Given the description of an element on the screen output the (x, y) to click on. 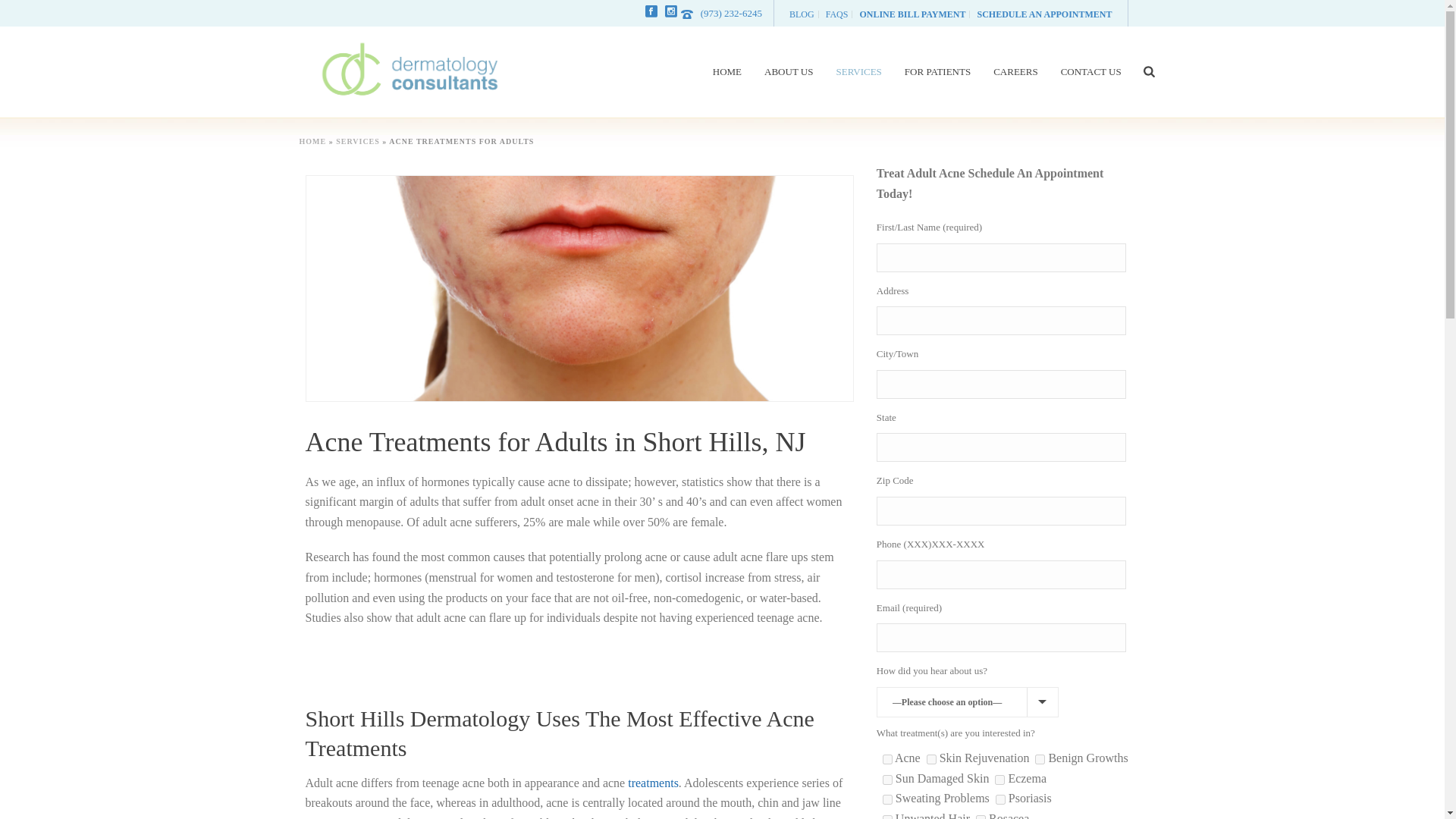
CONTACT US (1090, 71)
A Skin Cancer and Laser Center (409, 71)
Sweating Problems (887, 799)
Unwanted Hair (887, 816)
Skin Rejuvenation (931, 759)
Acne Treatments for Adults (579, 288)
Rosacea (980, 816)
Sun Damaged Skin (887, 779)
Acne (887, 759)
Psoriasis (1000, 799)
